Given the description of an element on the screen output the (x, y) to click on. 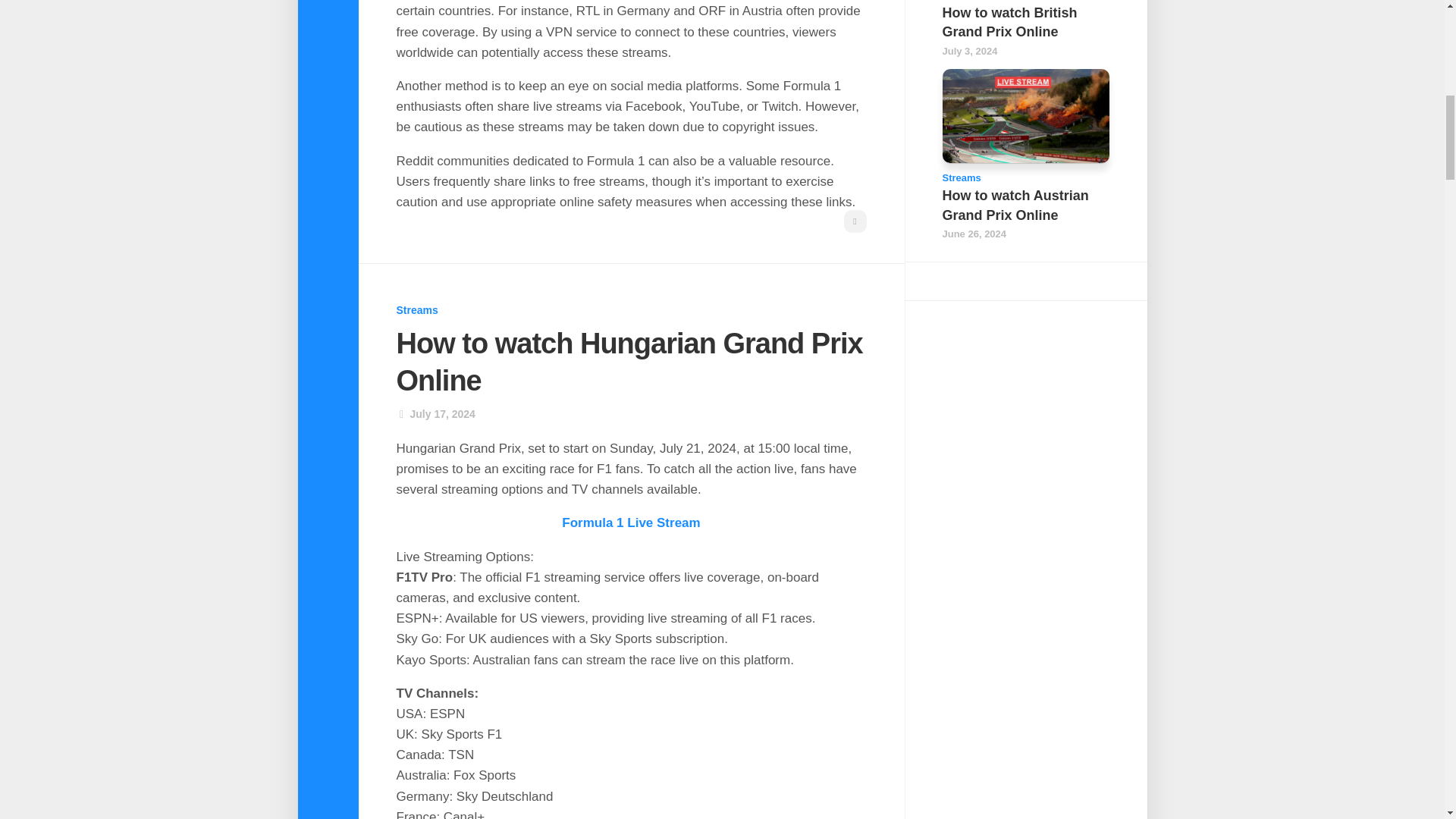
Formula 1 Live Stream (631, 522)
Streams (417, 309)
How to watch Hungarian Grand Prix Online (628, 361)
